Given the description of an element on the screen output the (x, y) to click on. 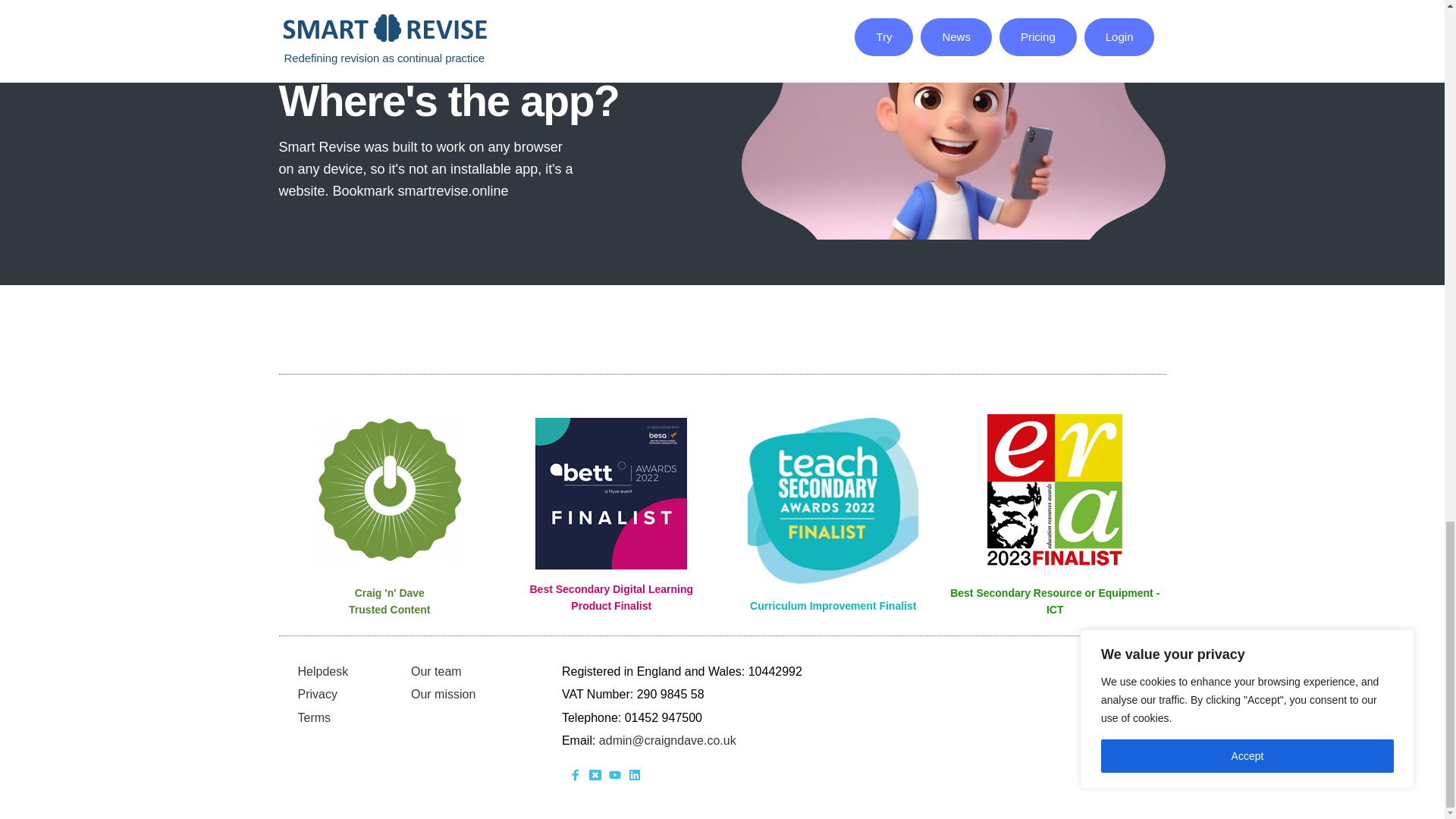
Privacy (316, 694)
Terms (313, 717)
Helpdesk (322, 671)
Our mission (443, 694)
Our team (435, 671)
smartrevise.online (452, 191)
